Given the description of an element on the screen output the (x, y) to click on. 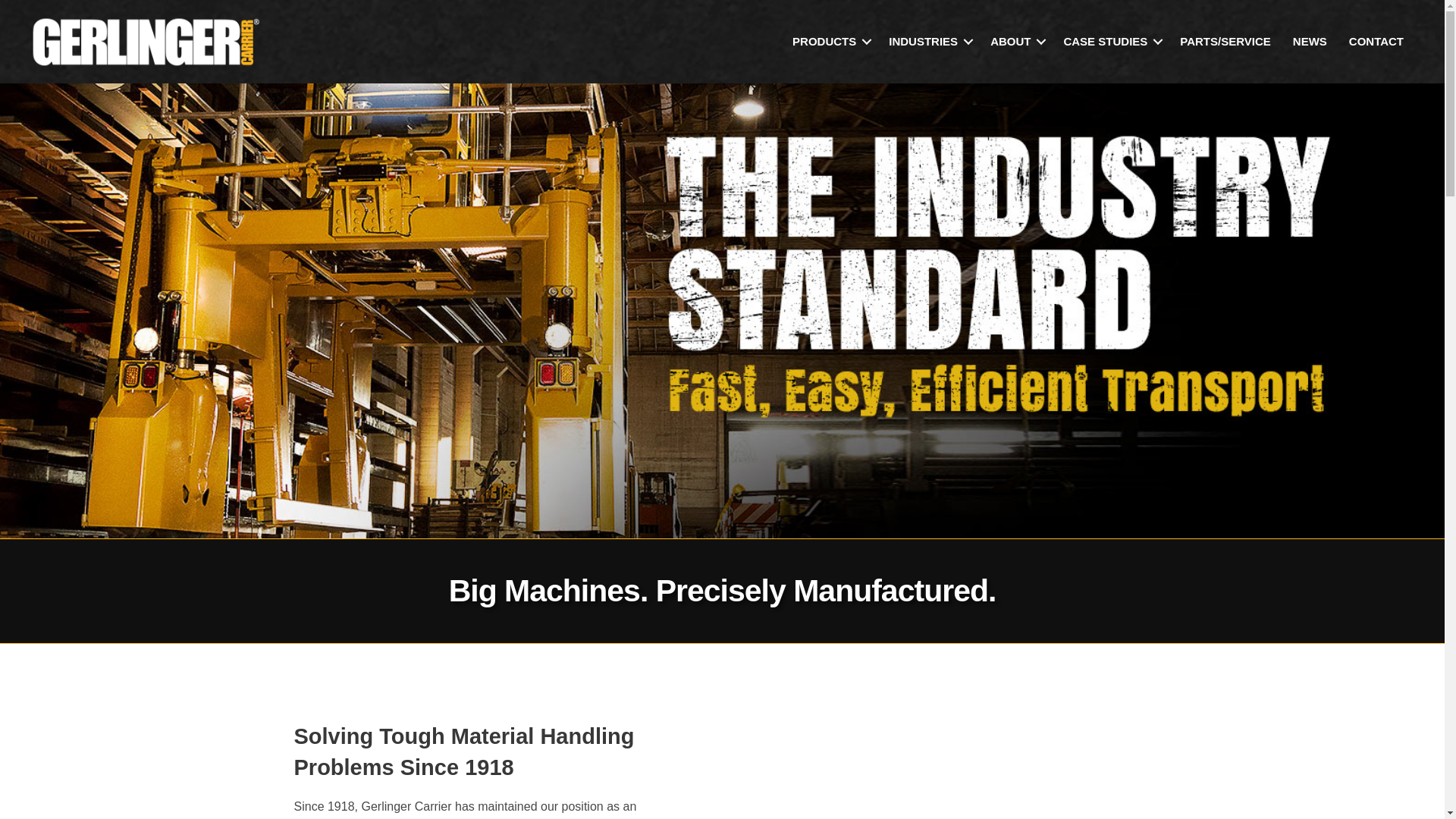
NEWS (1310, 41)
PRODUCTS (829, 41)
INDUSTRIES (927, 41)
CASE STUDIES (1110, 41)
gerlinger-carrier1 (145, 41)
CONTACT (1375, 41)
ABOUT (1015, 41)
